Given the description of an element on the screen output the (x, y) to click on. 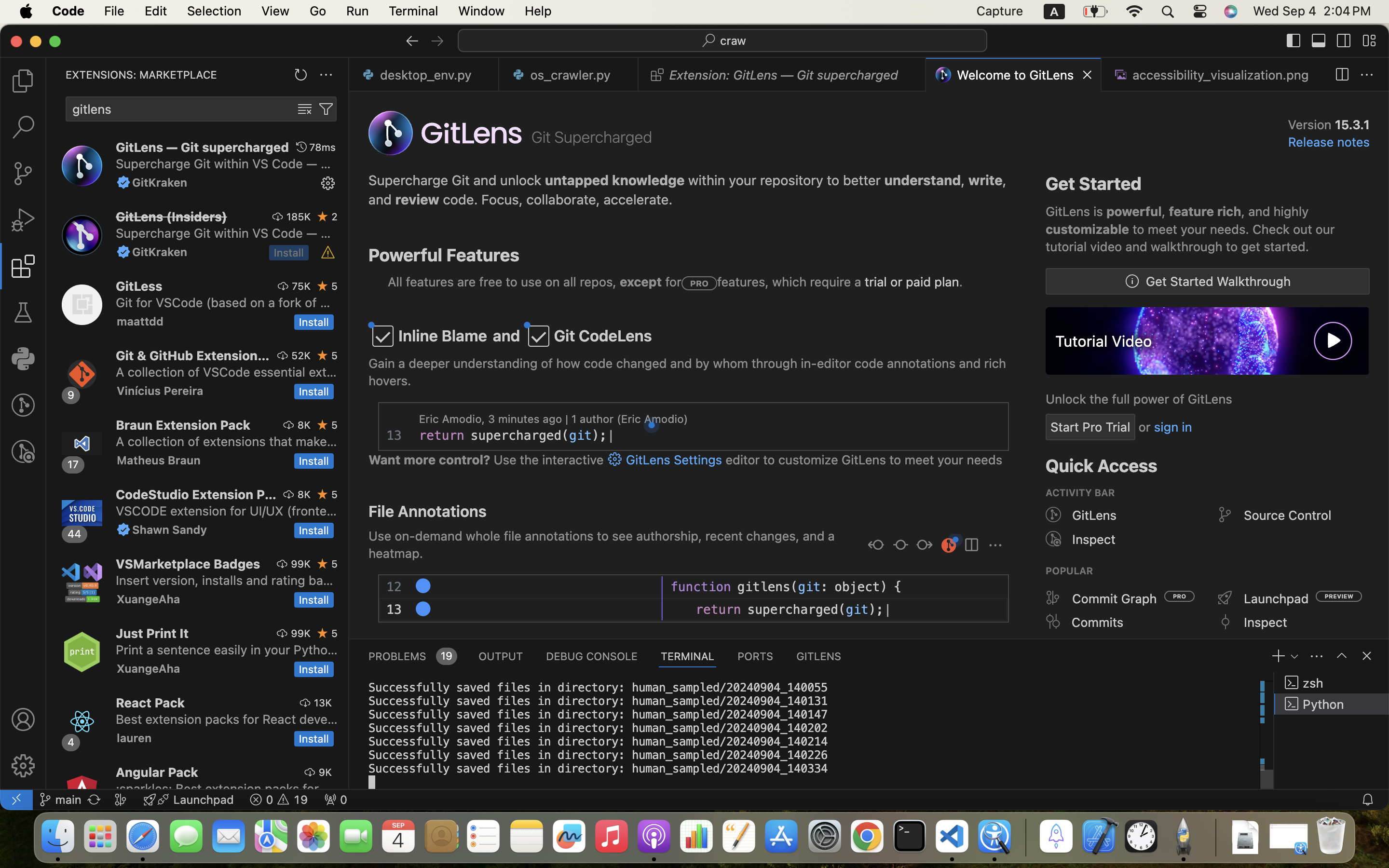
0  Element type: AXRadioButton (23, 127)
within your repository to better Element type: AXStaticText (784, 180)
Commit Graph Element type: AXStaticText (1114, 598)
Angular Pack Element type: AXStaticText (156, 771)
 Element type: AXButton (437, 40)
